Given the description of an element on the screen output the (x, y) to click on. 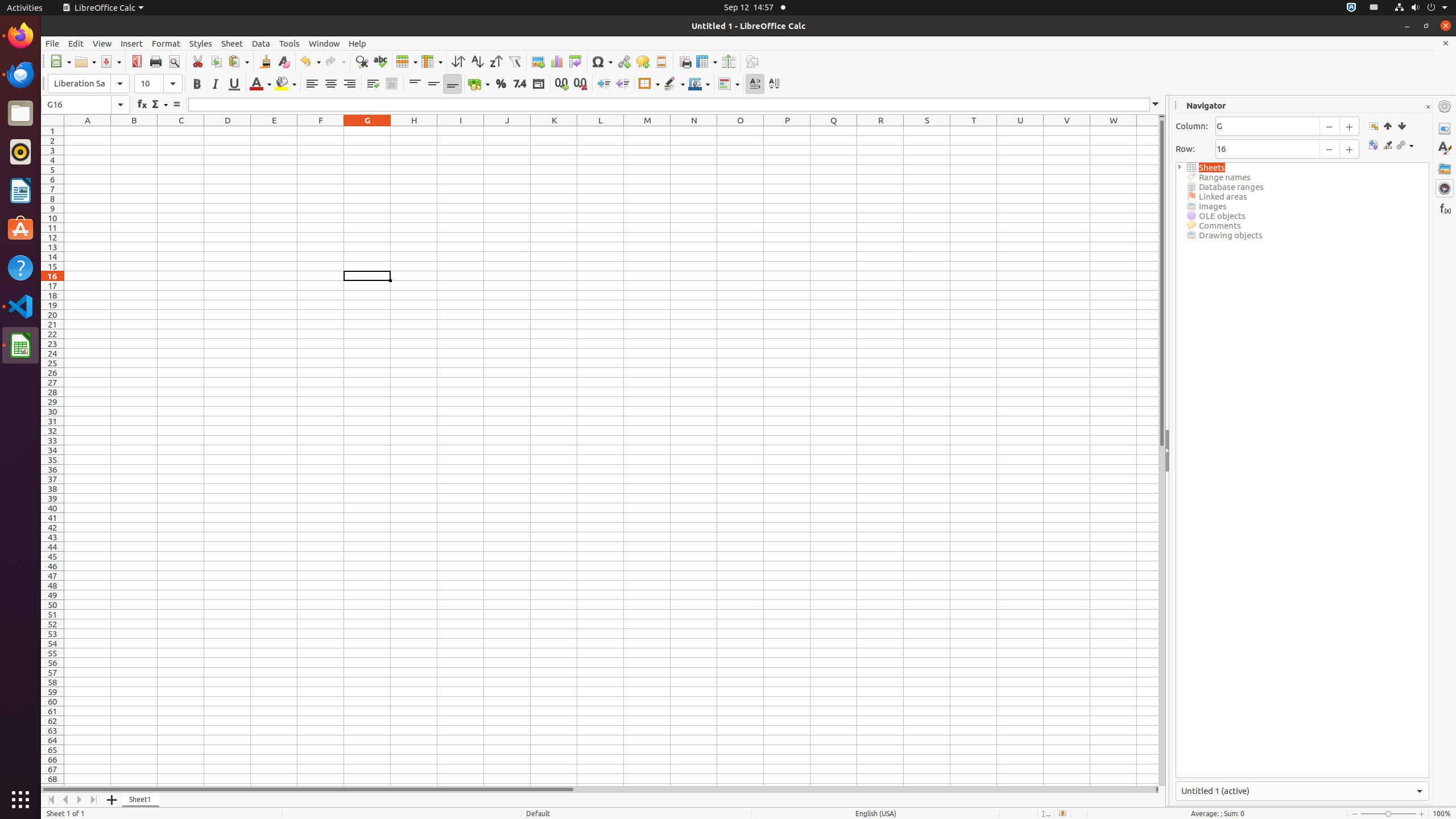
LibreOffice Calc Element type: menu (102, 7)
Drag Mode Element type: push-button (1404, 144)
Chart Element type: push-button (556, 61)
File Element type: menu (51, 43)
B1 Element type: table-cell (133, 130)
